Given the description of an element on the screen output the (x, y) to click on. 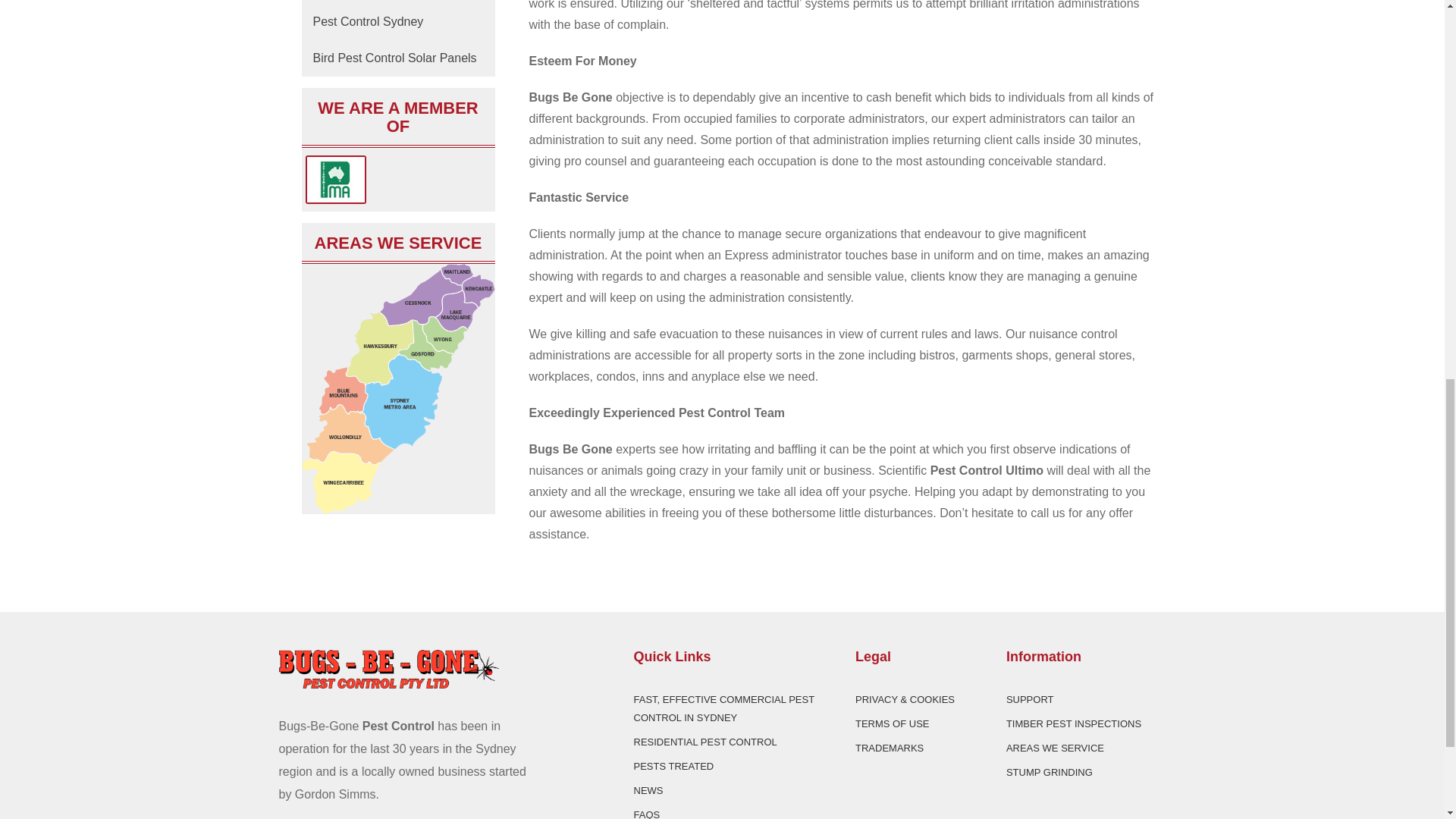
Pest Control Sydney (398, 21)
Bird Pest Control Solar Panels (398, 57)
FAQS (647, 814)
RESIDENTIAL PEST CONTROL (705, 741)
STUMP GRINDING (1049, 772)
FAST, EFFECTIVE COMMERCIAL PEST CONTROL IN SYDNEY (723, 708)
TIMBER PEST INSPECTIONS (1073, 723)
SUPPORT (1030, 699)
TERMS OF USE (893, 723)
PESTS TREATED (673, 766)
NEWS (648, 790)
TRADEMARKS (889, 747)
AREAS WE SERVICE (1054, 747)
